Given the description of an element on the screen output the (x, y) to click on. 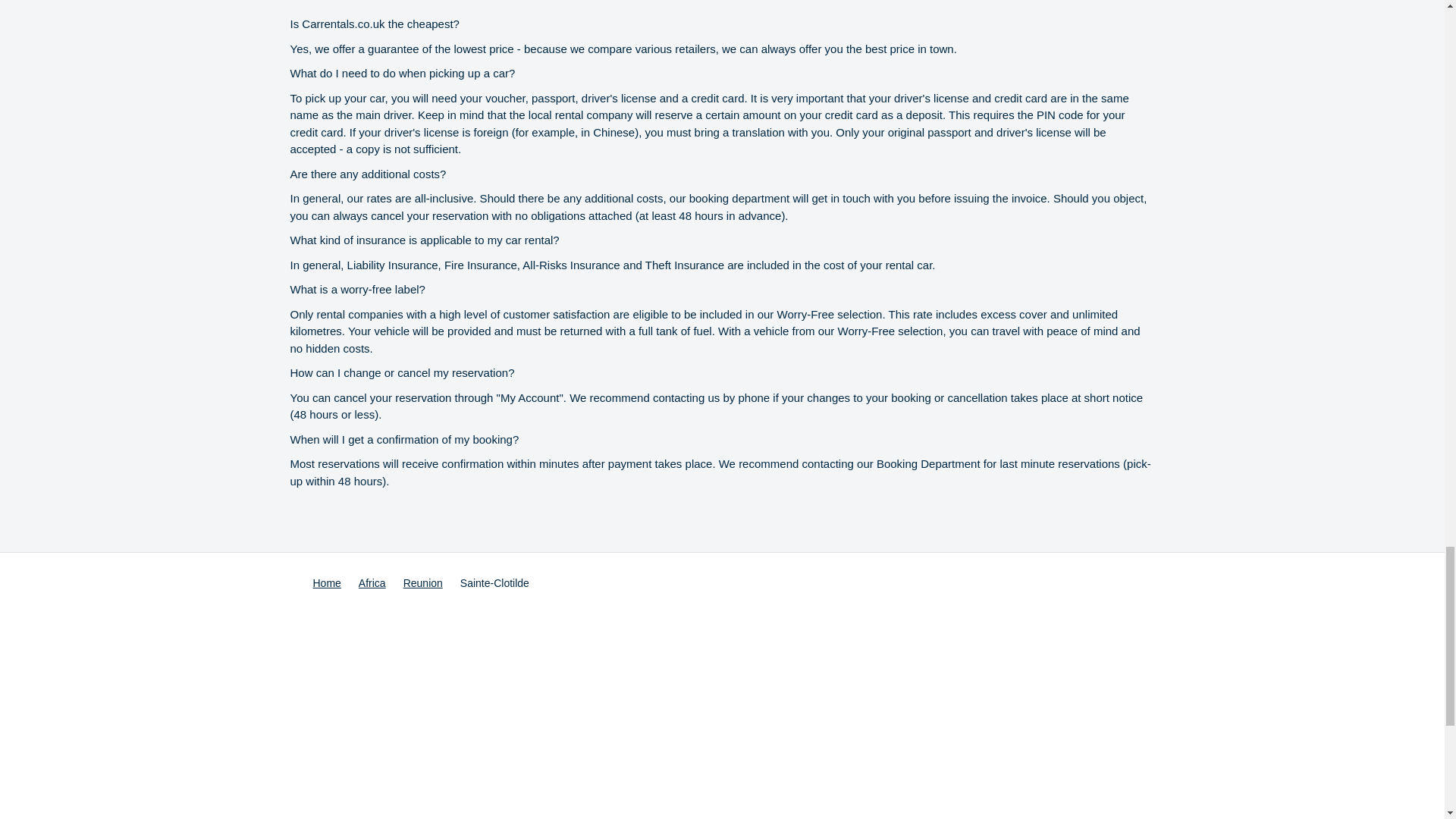
Reunion (422, 583)
Africa (371, 583)
Home (326, 583)
